Given the description of an element on the screen output the (x, y) to click on. 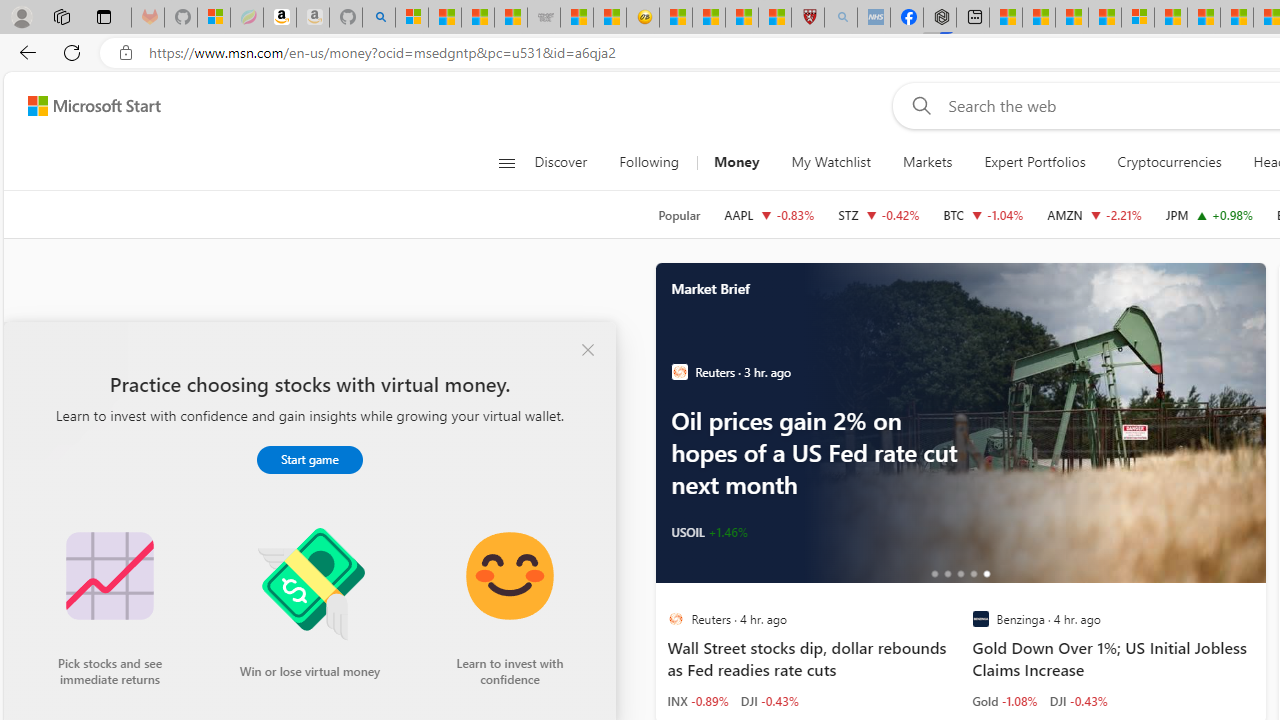
Combat Siege (543, 17)
Gold -1.08% (1004, 700)
MSFT -2.03% (784, 532)
Microsoft account | Privacy (1138, 17)
Cryptocurrencies (1169, 162)
Skip to content (86, 105)
Rocket Companies shares dip 1% on earnings miss (1031, 422)
Markets (927, 162)
Money (736, 162)
My Watchlist (830, 162)
list of asthma inhalers uk - Search - Sleeping (841, 17)
